Given the description of an element on the screen output the (x, y) to click on. 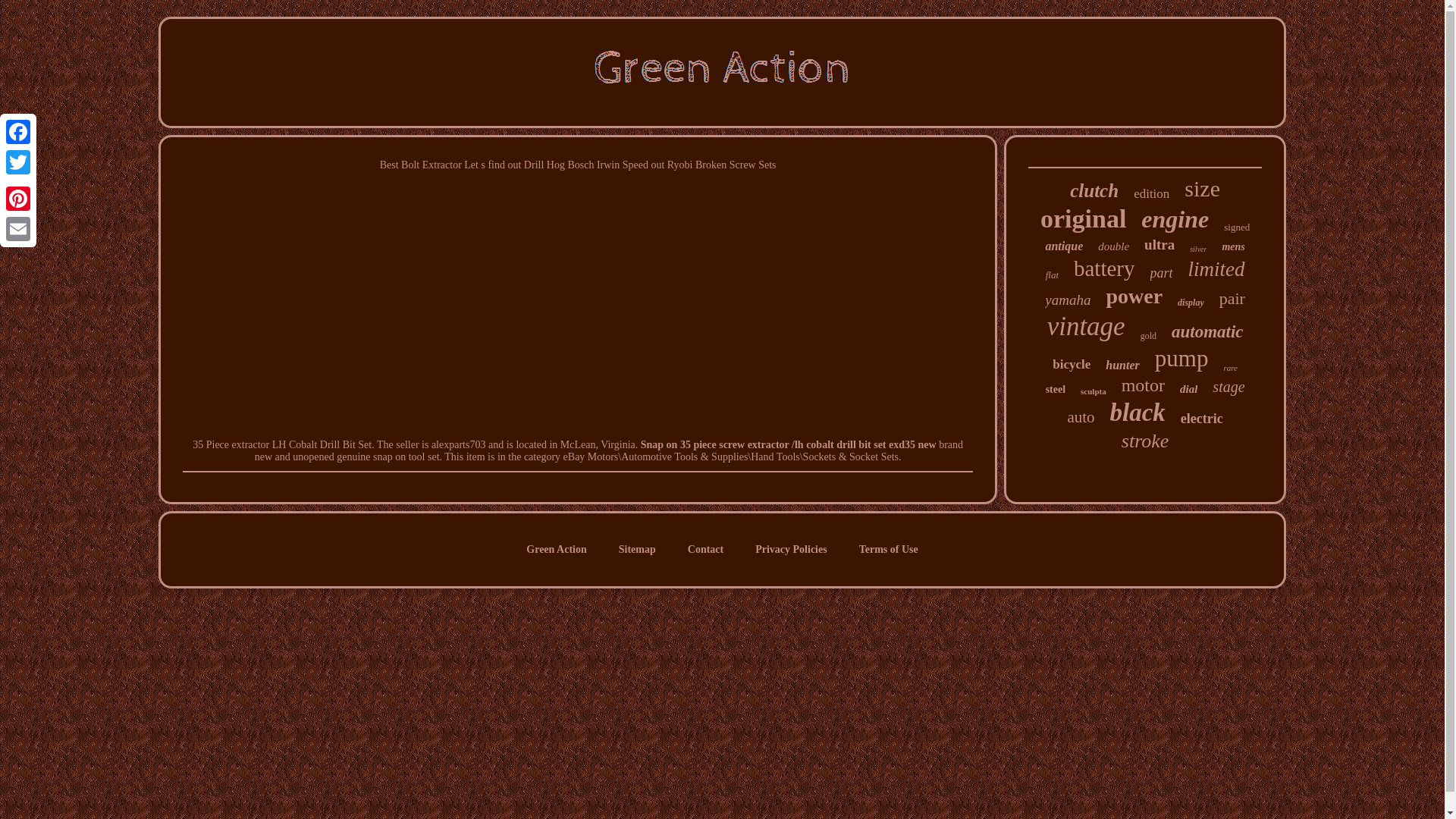
mens (1232, 246)
limited (1216, 269)
engine (1174, 219)
automatic (1207, 332)
antique (1064, 246)
Pinterest (17, 198)
ultra (1159, 244)
double (1113, 246)
signed (1236, 227)
size (1202, 188)
